Given the description of an element on the screen output the (x, y) to click on. 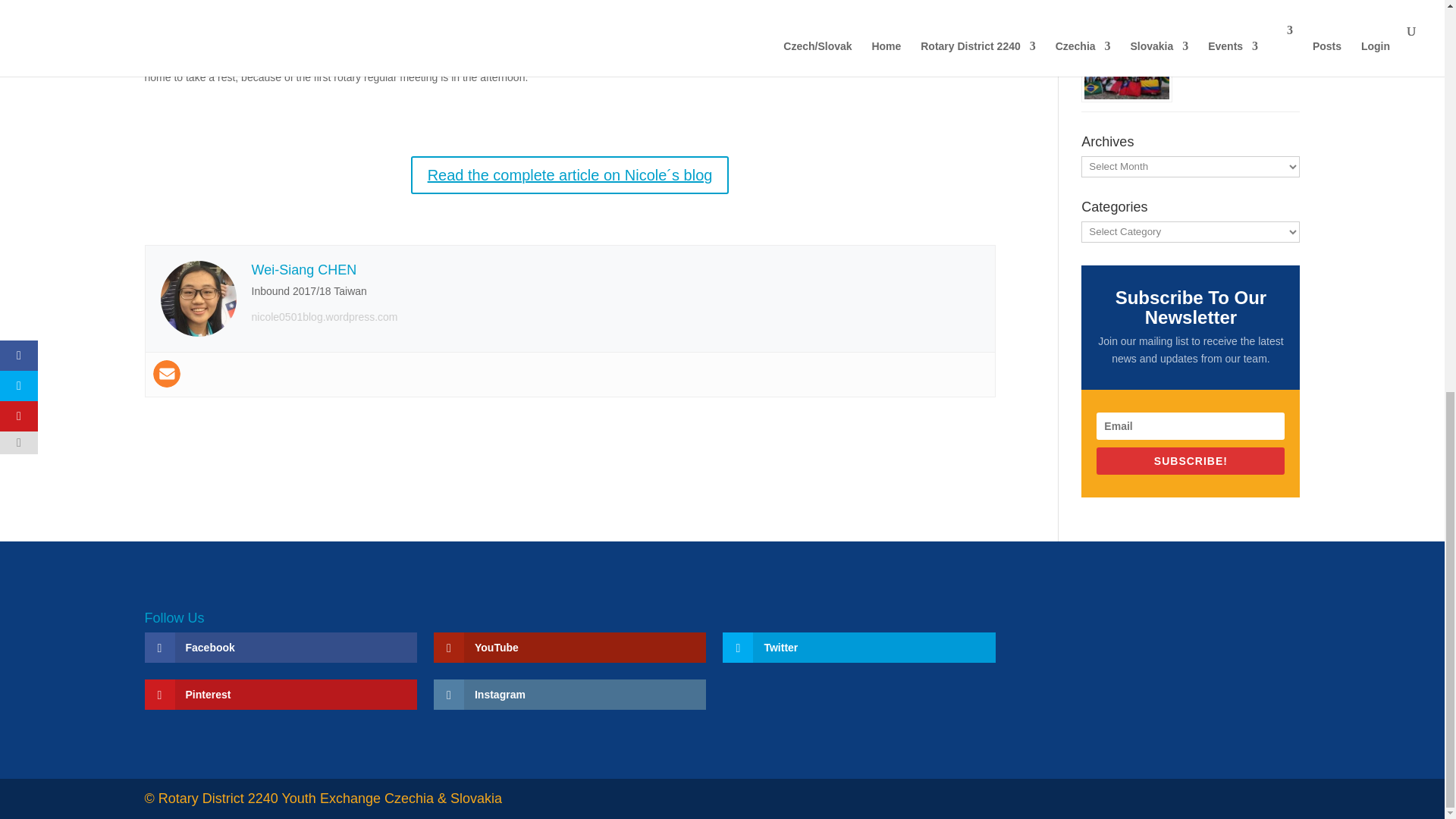
User email (166, 373)
